Given the description of an element on the screen output the (x, y) to click on. 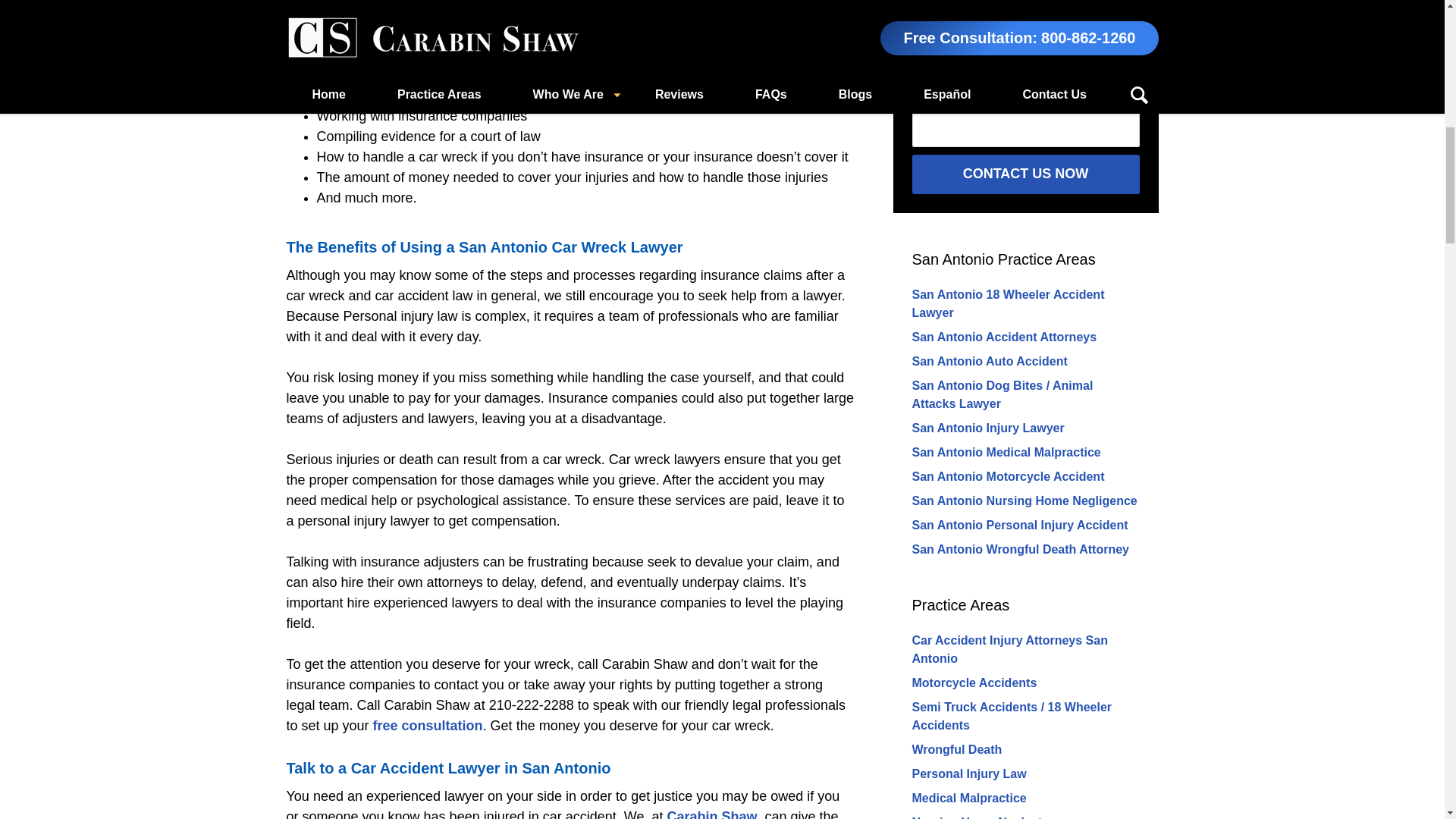
free consultation (427, 725)
Carabin Shaw (711, 814)
